Given the description of an element on the screen output the (x, y) to click on. 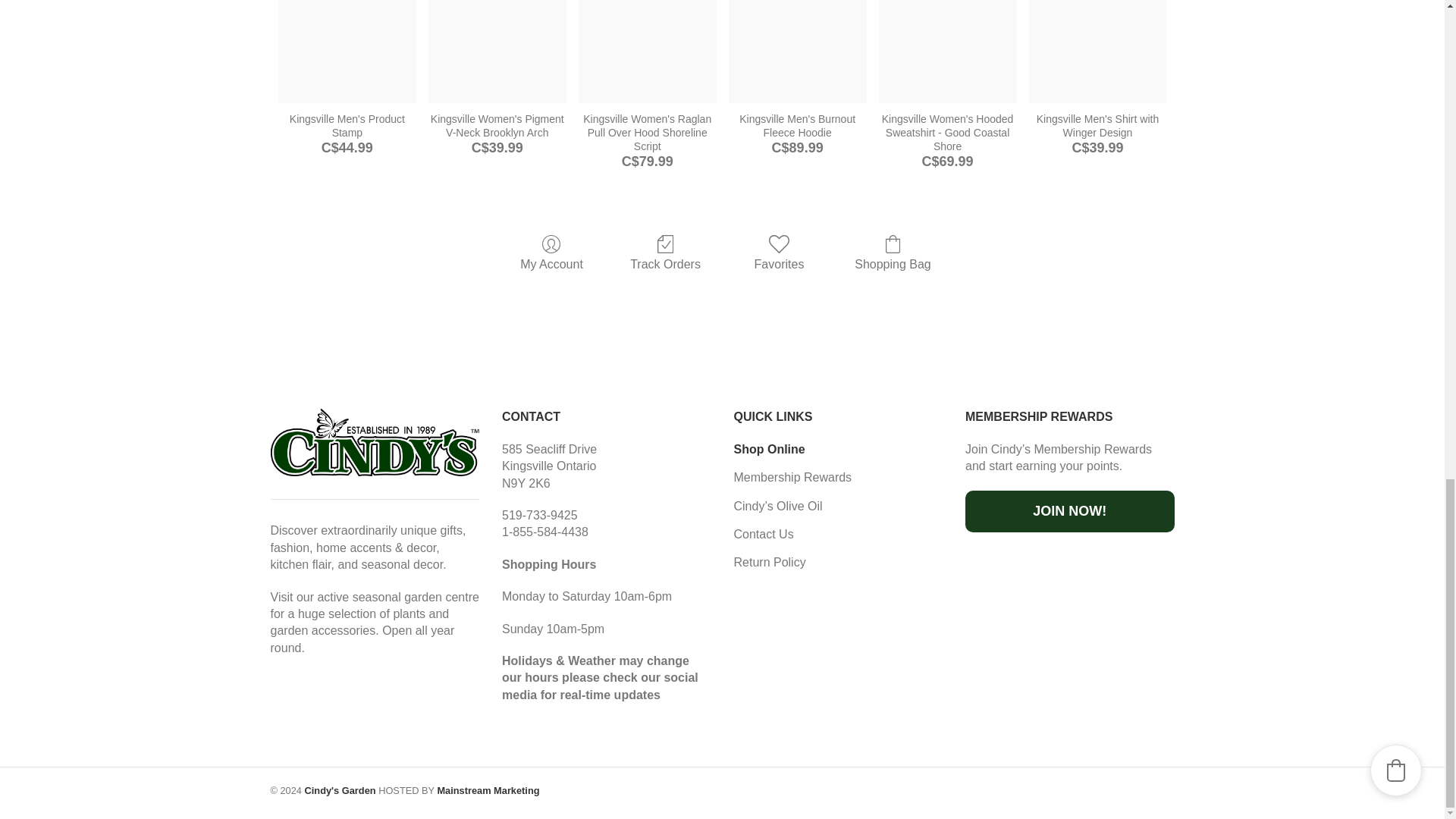
Kingsville Men's Burnout Fleece Hoodie (797, 51)
Kingsville Men's Product Stamp (347, 51)
Kingsville Women's Hooded Sweatshirt - Good Coastal Shore (947, 51)
Kingsville Women's Pigment V-Neck Brooklyn Arch (497, 51)
Kingsville Women's Raglan Pull Over Hood Shoreline Script (647, 51)
